Given the description of an element on the screen output the (x, y) to click on. 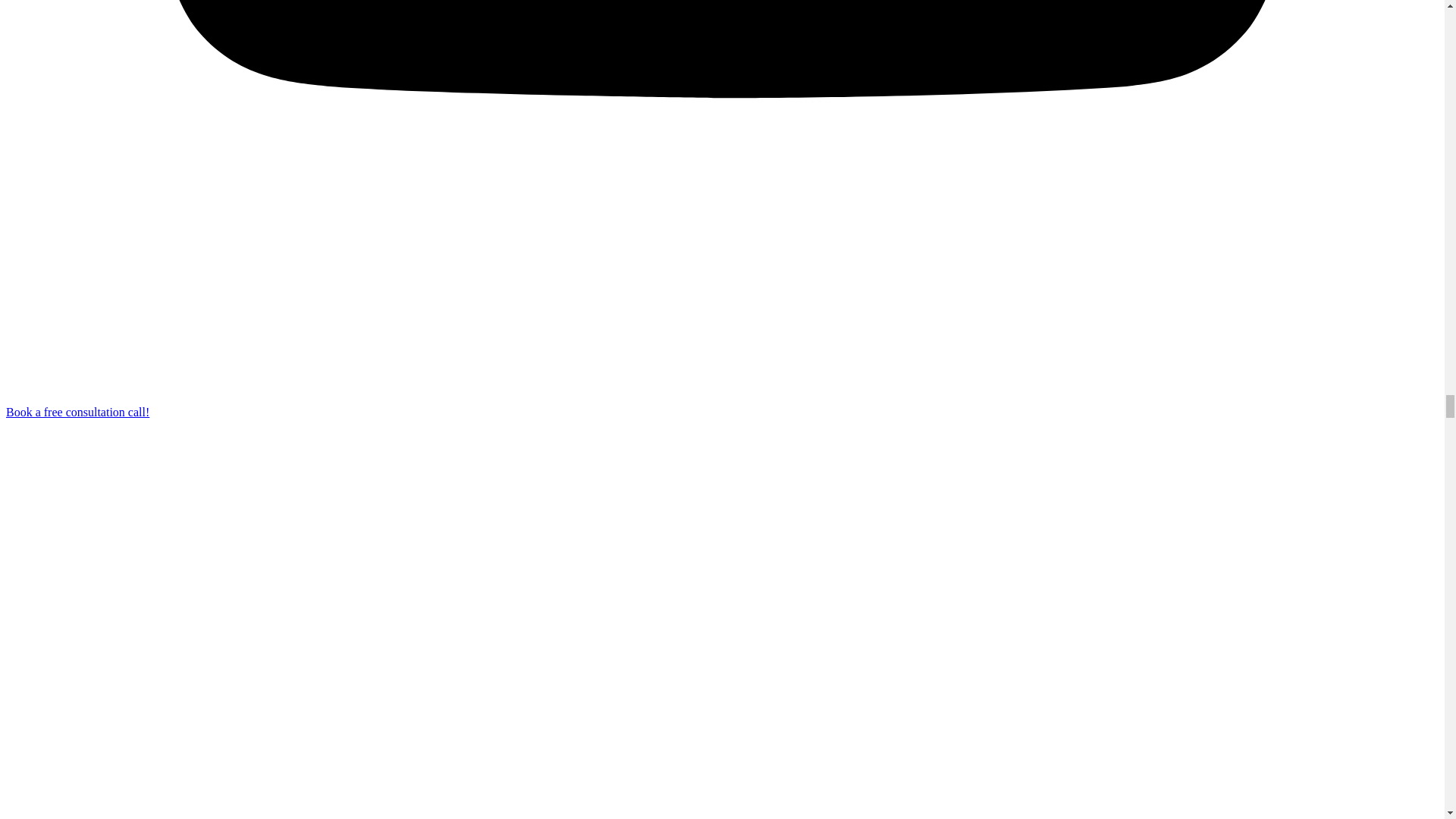
Book a free consultation call! (77, 411)
